Given the description of an element on the screen output the (x, y) to click on. 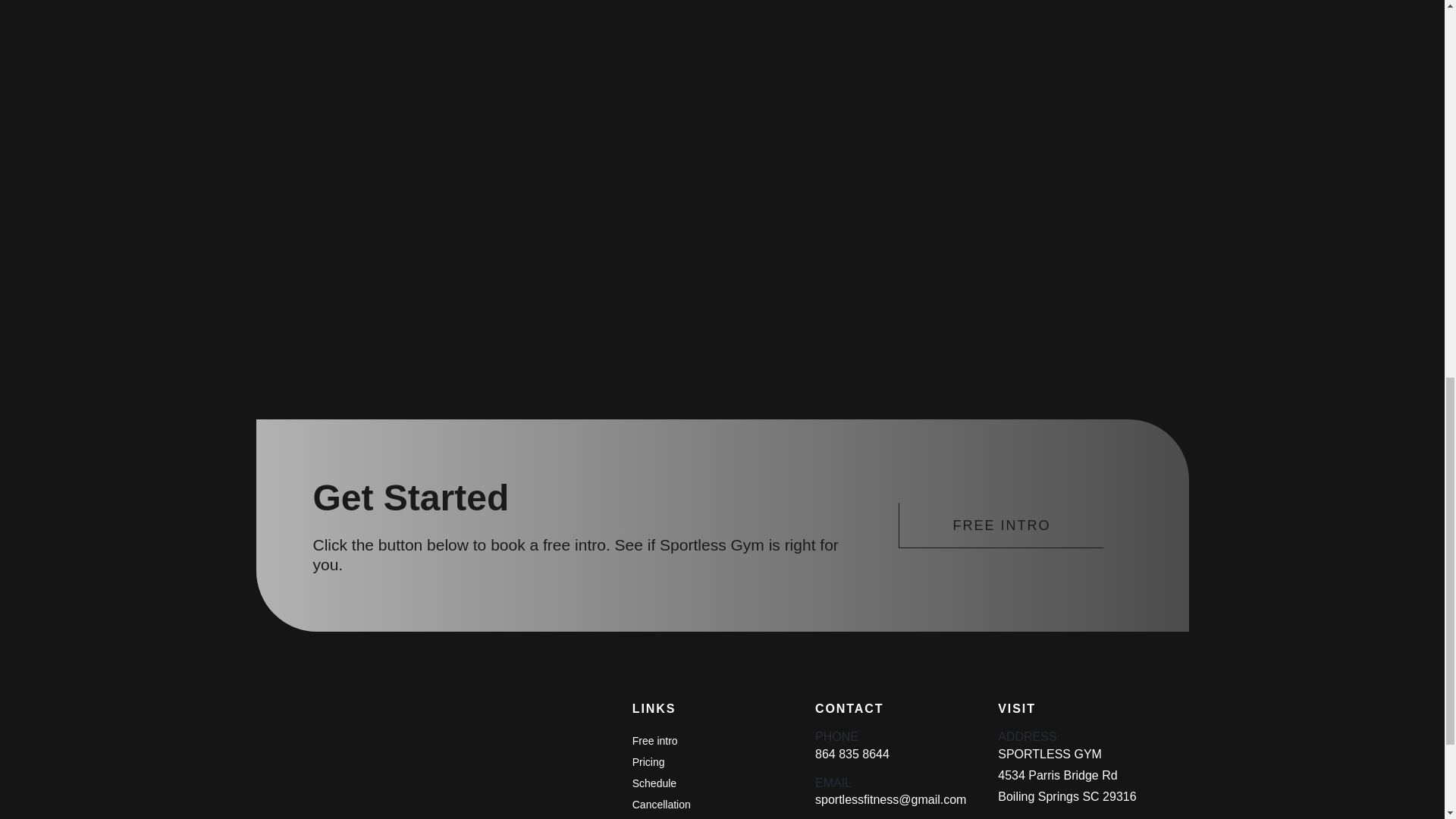
Pricing (648, 761)
Free intro (654, 740)
FREE INTRO (1000, 524)
